Given the description of an element on the screen output the (x, y) to click on. 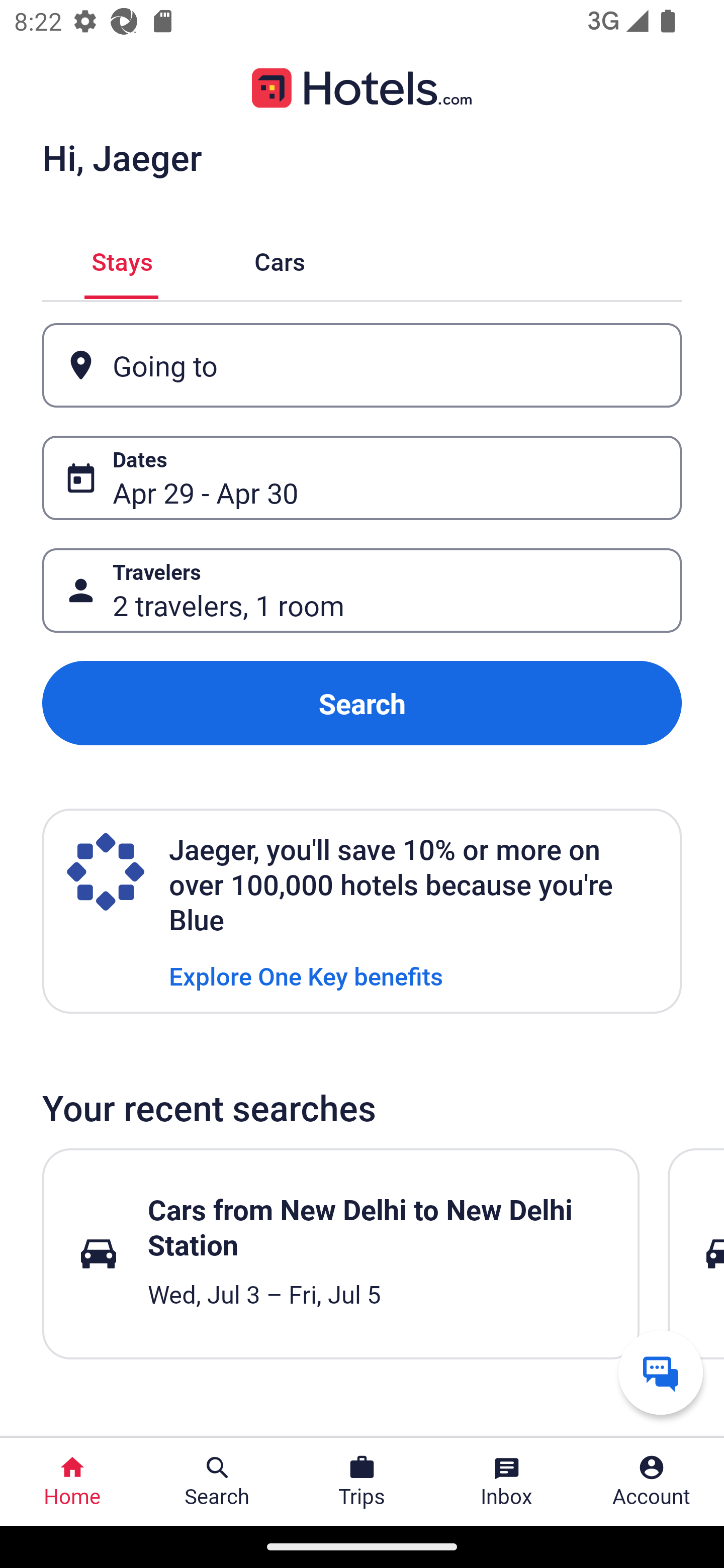
Hi, Jaeger (121, 156)
Cars (279, 259)
Going to Button (361, 365)
Dates Button Apr 29 - Apr 30 (361, 477)
Travelers Button 2 travelers, 1 room (361, 590)
Search (361, 702)
Get help from a virtual agent (660, 1371)
Search Search Button (216, 1481)
Trips Trips Button (361, 1481)
Inbox Inbox Button (506, 1481)
Account Profile. Button (651, 1481)
